Given the description of an element on the screen output the (x, y) to click on. 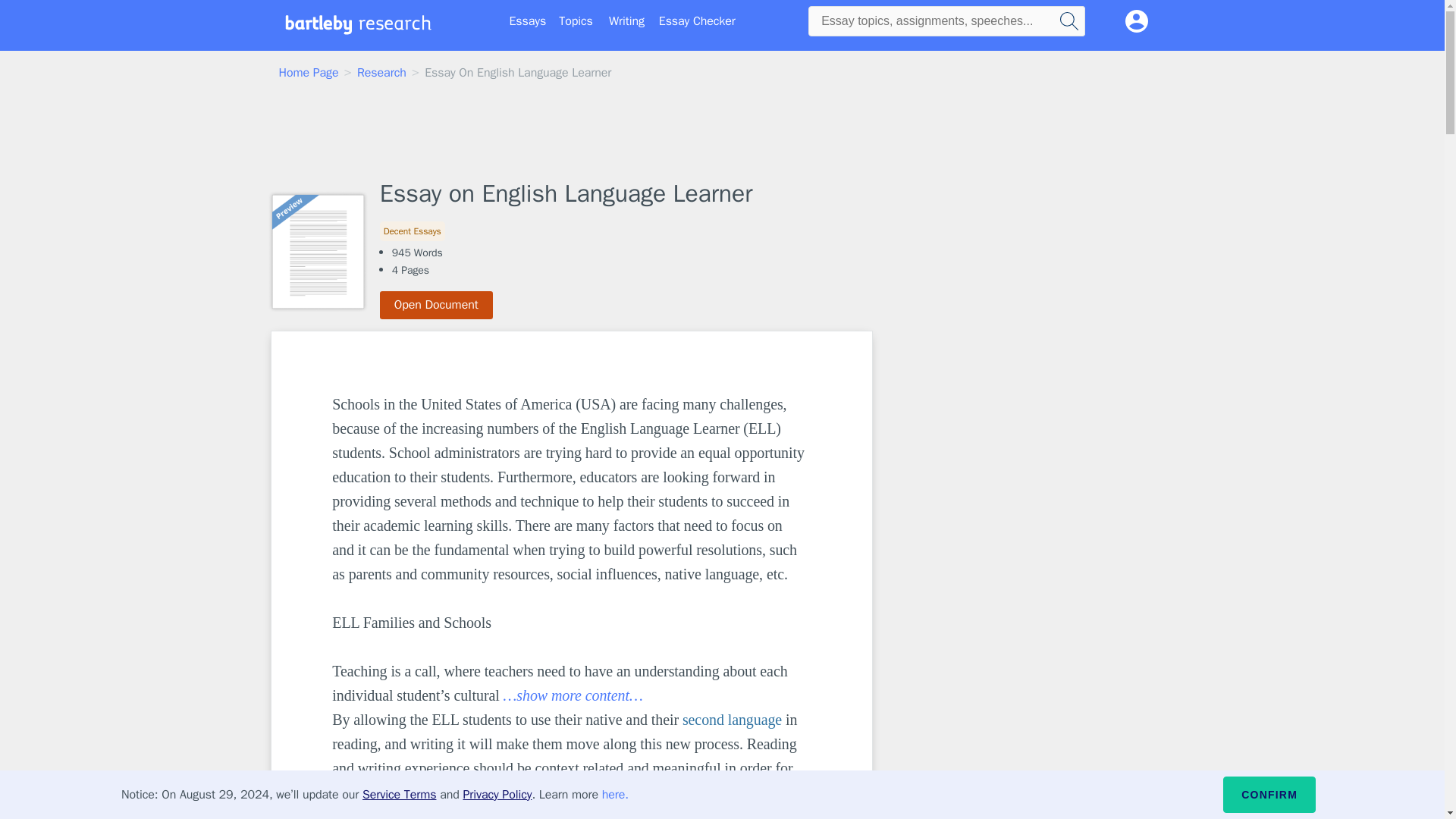
Research (381, 72)
second language (731, 719)
Home Page (309, 72)
Essay Checker (697, 20)
Topics (575, 20)
Open Document (436, 305)
Writing (626, 20)
Essays (528, 20)
